Given the description of an element on the screen output the (x, y) to click on. 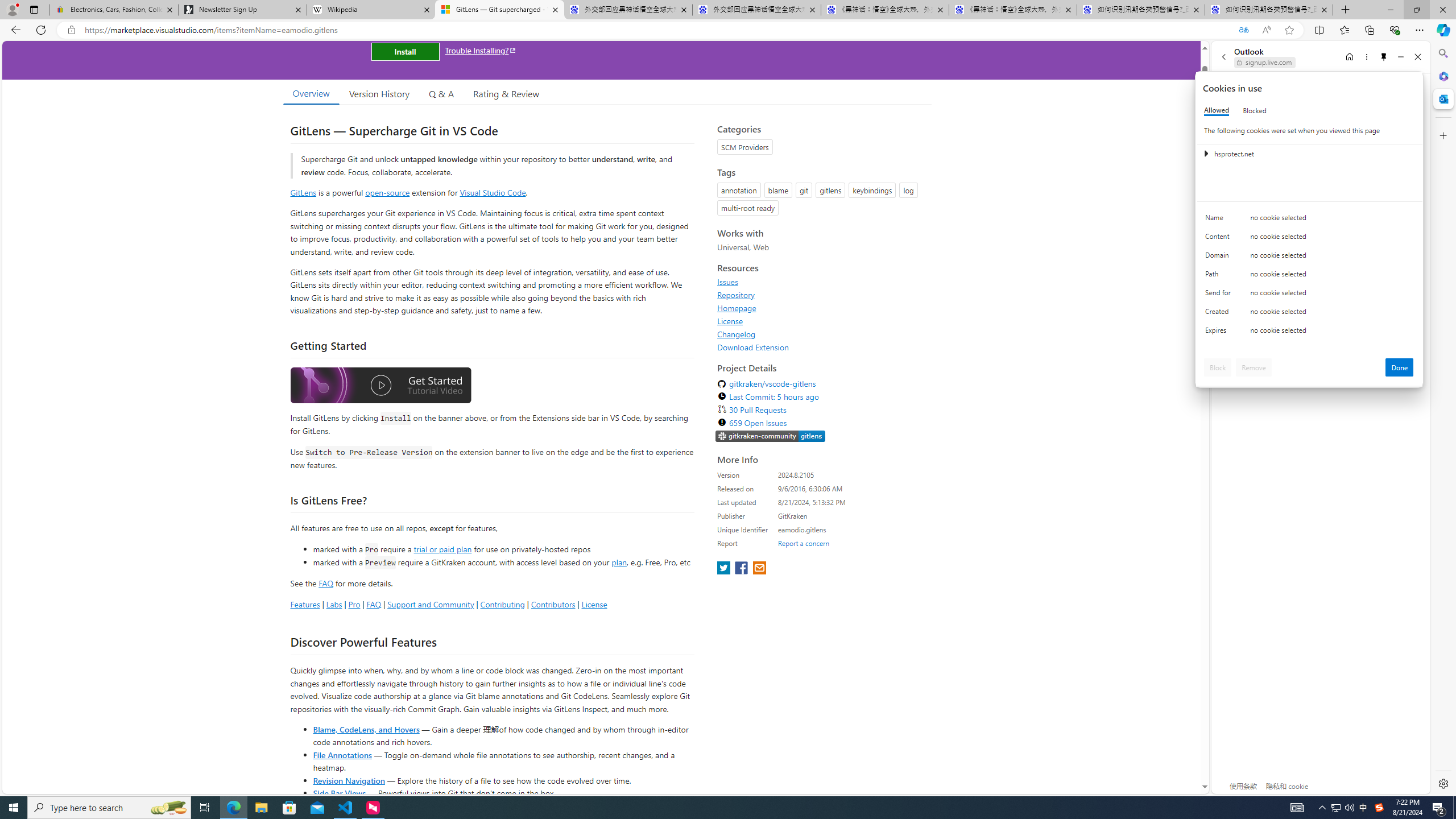
Path (1219, 276)
Send for (1219, 295)
no cookie selected (1331, 332)
Remove (1253, 367)
Domain (1219, 257)
Expires (1219, 332)
Content (1219, 239)
Block (1217, 367)
Class: c0153 c0157 (1309, 332)
Blocked (1255, 110)
Class: c0153 c0157 c0154 (1309, 220)
Done (1399, 367)
Created (1219, 313)
Allowed (1216, 110)
Name (1219, 220)
